Given the description of an element on the screen output the (x, y) to click on. 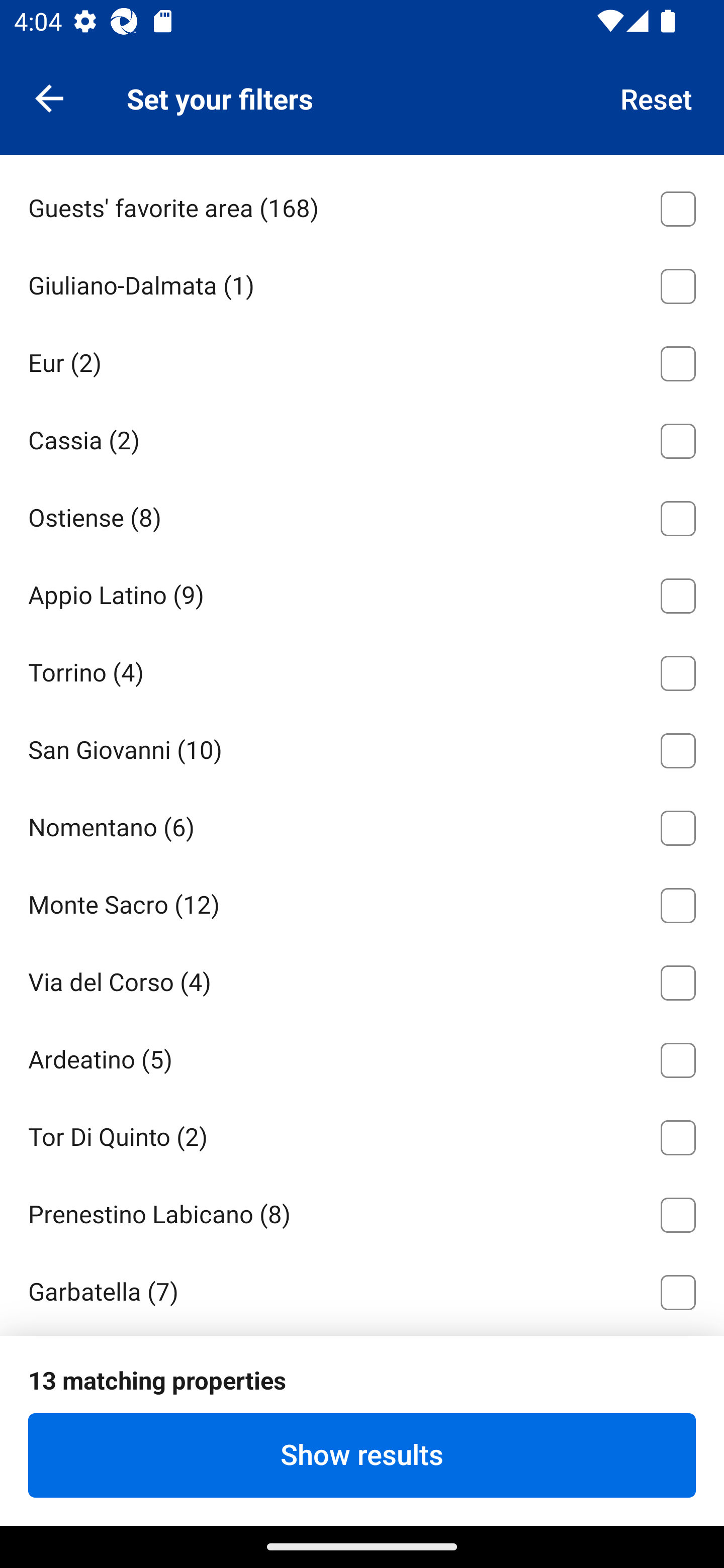
Navigate up (49, 97)
Reset (656, 97)
Guests' favorite area ⁦(168) (361, 205)
Giuliano-Dalmata ⁦(1) (361, 282)
Eur ⁦(2) (361, 359)
Cassia ⁦(2) (361, 437)
Ostiense ⁦(8) (361, 514)
Appio Latino ⁦(9) (361, 592)
Torrino ⁦(4) (361, 669)
San Giovanni ⁦(10) (361, 746)
Nomentano ⁦(6) (361, 824)
Monte Sacro ⁦(12) (361, 901)
Via del Corso ⁦(4) (361, 978)
Ardeatino ⁦(5) (361, 1056)
Tor Di Quinto ⁦(2) (361, 1134)
Prenestino Labicano ⁦(8) (361, 1210)
Garbatella ⁦(7) (361, 1288)
Show results (361, 1454)
